Given the description of an element on the screen output the (x, y) to click on. 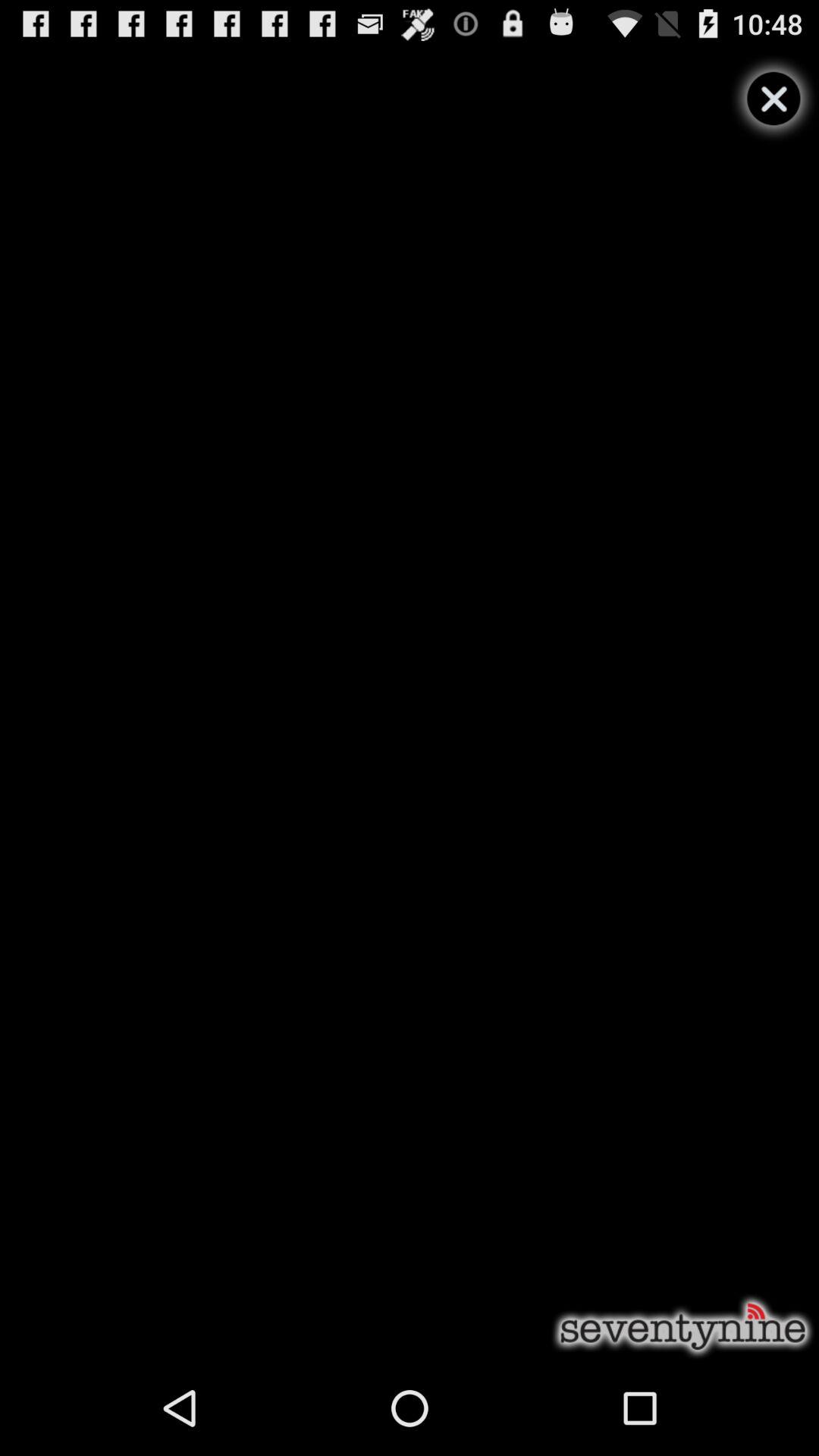
close video (773, 98)
